Given the description of an element on the screen output the (x, y) to click on. 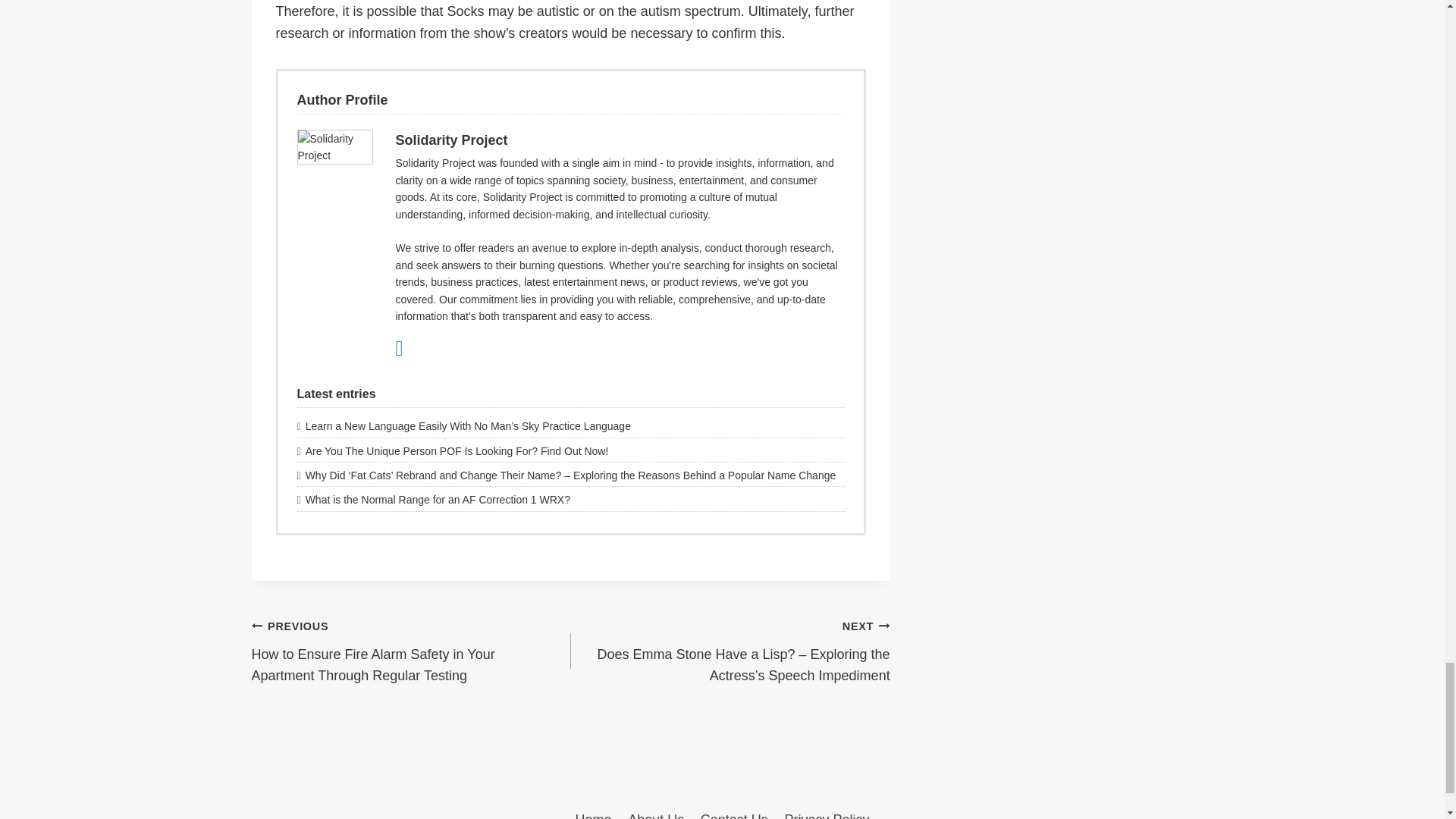
Contact Us (734, 811)
Privacy Policy (826, 811)
About Us (656, 811)
Are You The Unique Person POF Is Looking For? Find Out Now! (570, 451)
What is the Normal Range for an AF Correction 1 WRX? (570, 499)
Home (593, 811)
